Given the description of an element on the screen output the (x, y) to click on. 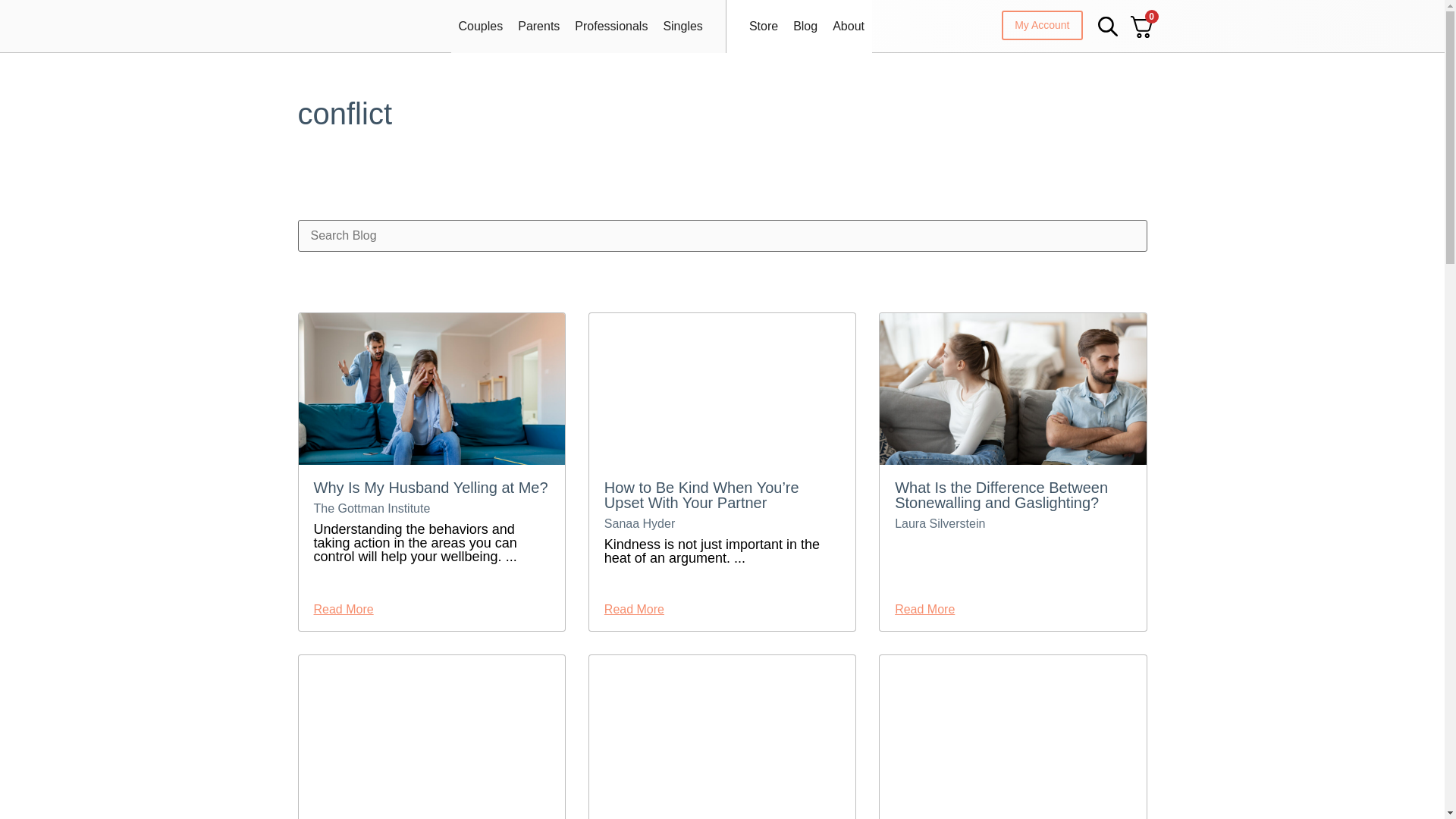
Couples (480, 25)
Parents (538, 25)
Professionals (611, 25)
